Given the description of an element on the screen output the (x, y) to click on. 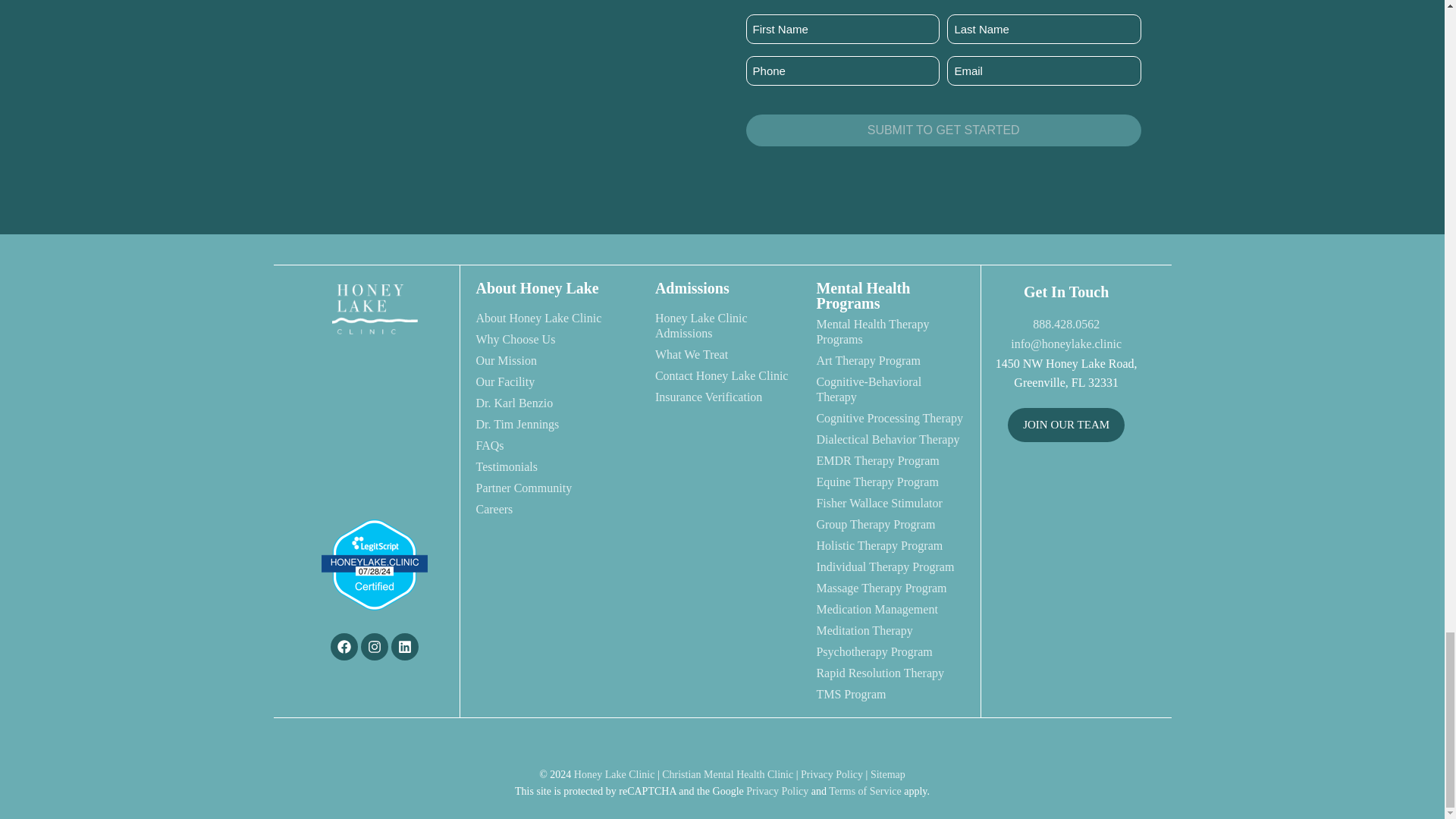
Honey Lake Logo White (373, 309)
SUBMIT TO GET STARTED (943, 130)
Tagline (374, 426)
Honey Lake, 1450 NW Honey Lake Road, Greenville, FL 32331 (1066, 514)
